Given the description of an element on the screen output the (x, y) to click on. 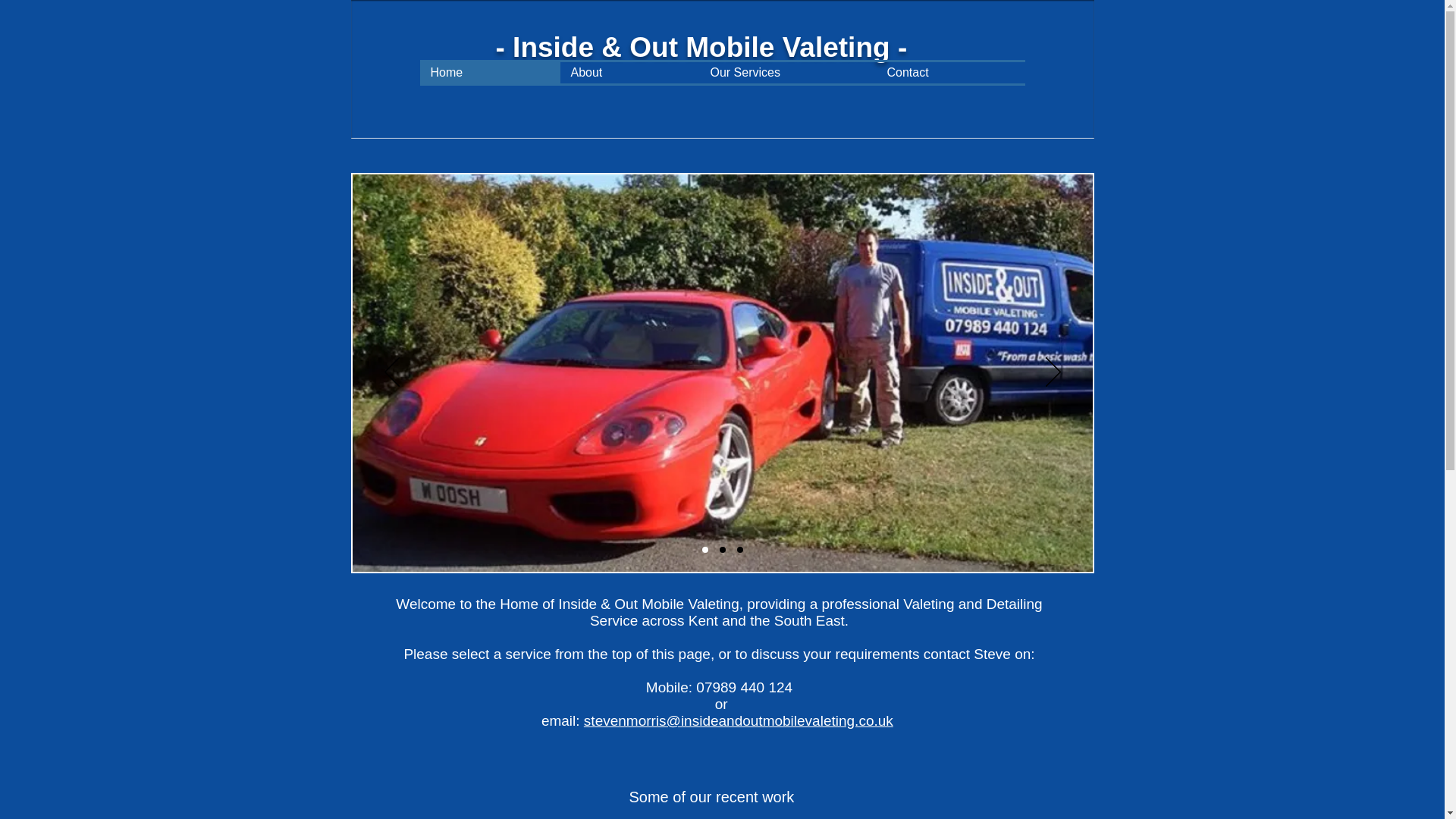
Home (490, 72)
About (628, 72)
Our Services (787, 72)
Contact (950, 72)
